Given the description of an element on the screen output the (x, y) to click on. 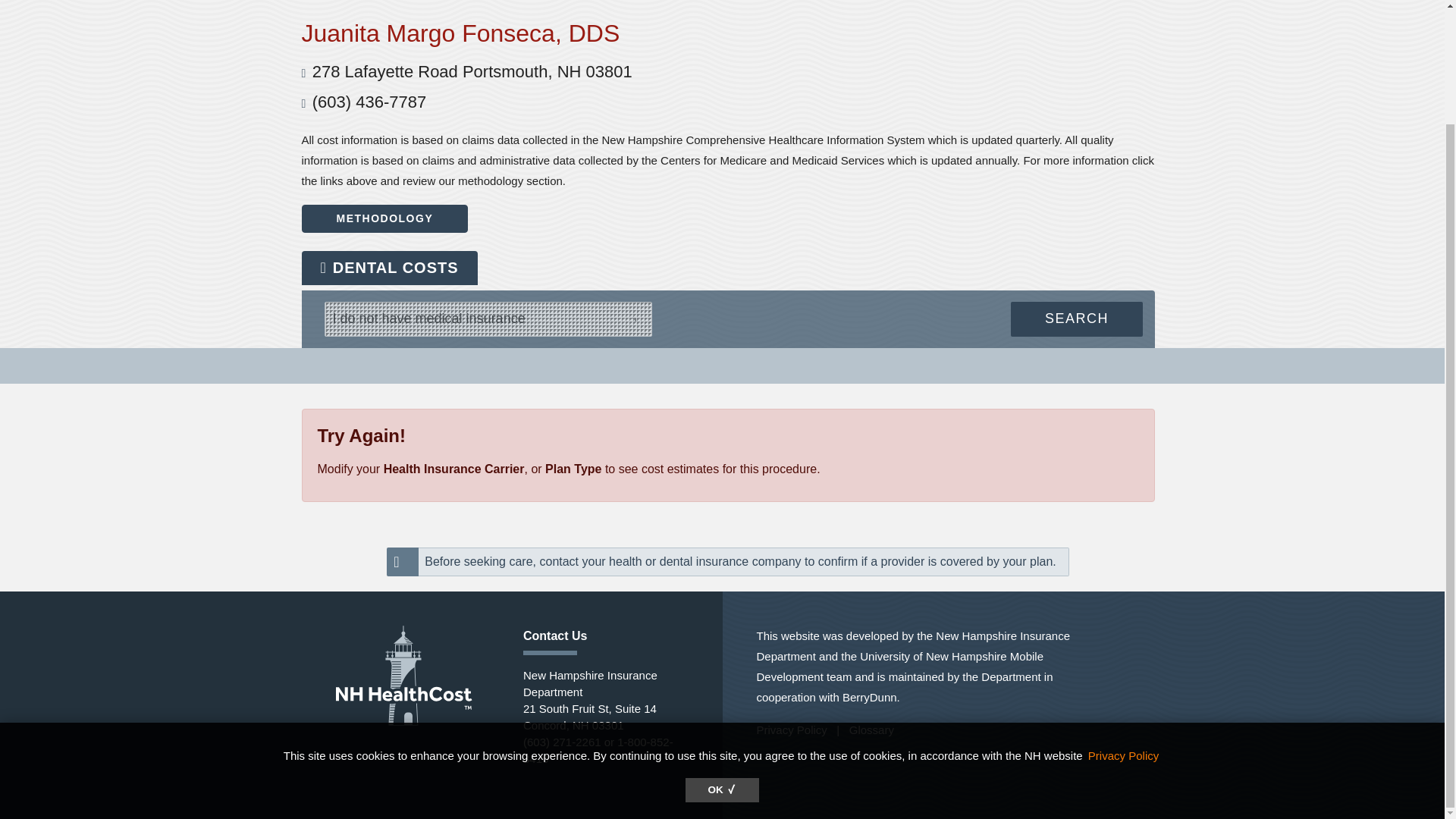
Search (1076, 319)
DENTAL COSTS (389, 267)
278 Lafayette Road Portsmouth, NH 03801 (472, 71)
METHODOLOGY (384, 218)
Search (1076, 319)
Privacy Policy (792, 729)
Privacy Policy (1123, 619)
Glossary (870, 729)
